Given the description of an element on the screen output the (x, y) to click on. 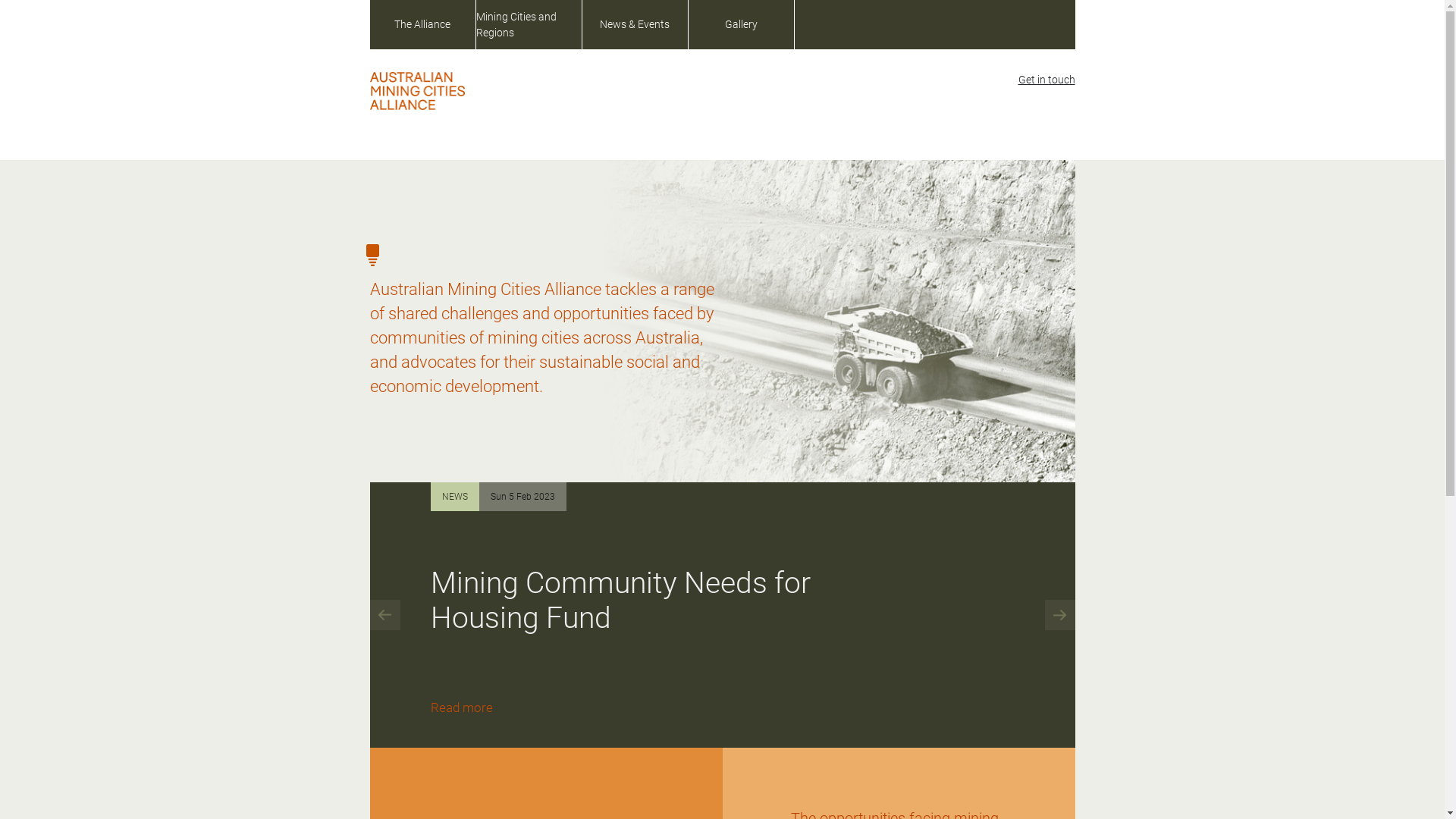
Mining Cities and Regions Element type: text (528, 24)
Get in touch Element type: text (1045, 79)
News & Events Element type: text (634, 24)
Gallery Element type: text (740, 24)
Read more Element type: text (461, 707)
The Alliance Element type: text (422, 24)
